Given the description of an element on the screen output the (x, y) to click on. 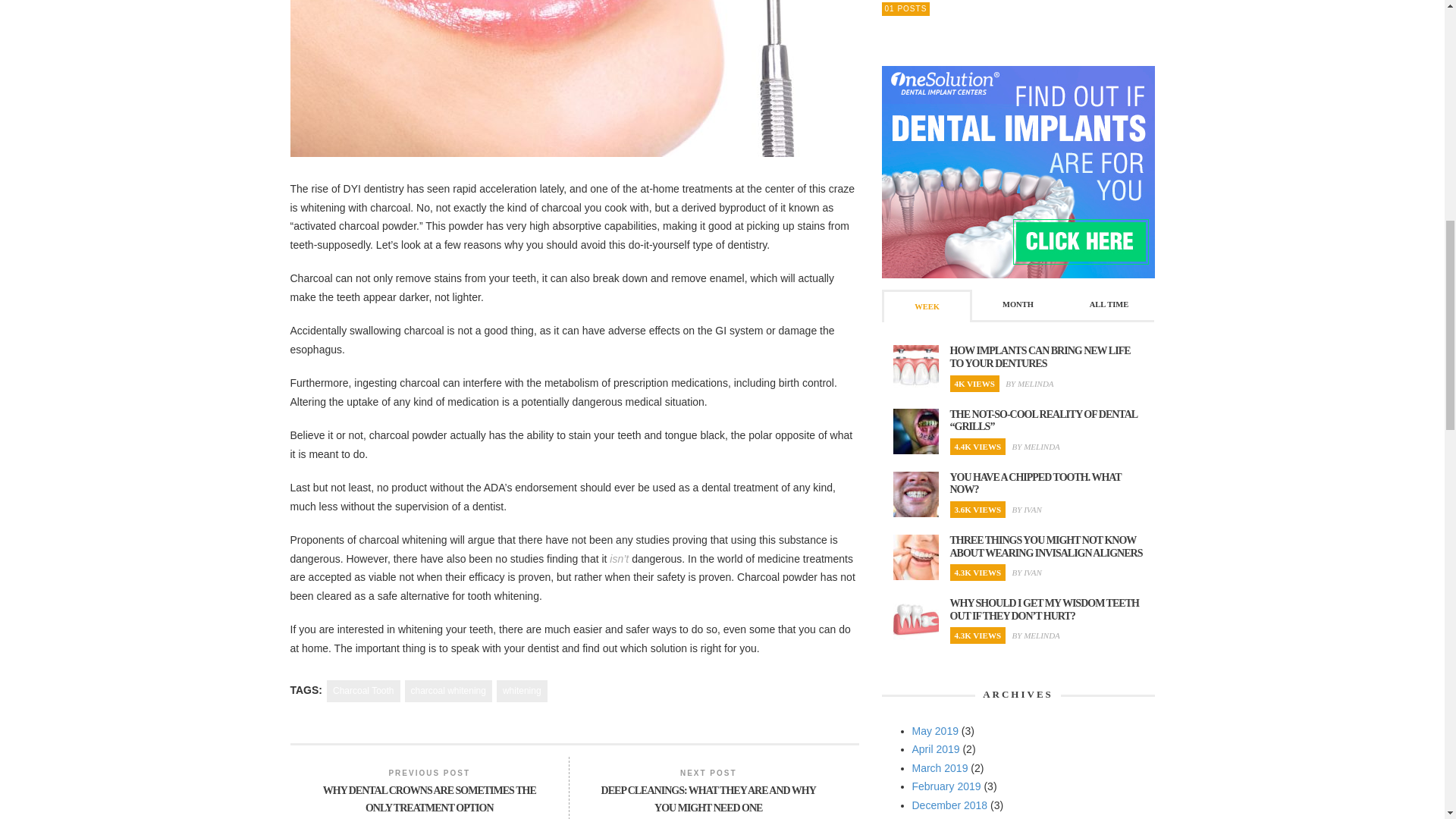
Charcoal Tooth (363, 690)
charcoal whitening (448, 690)
Permalink to You Have a Chipped Tooth. What Now? (1035, 483)
whitening (521, 690)
